Given the description of an element on the screen output the (x, y) to click on. 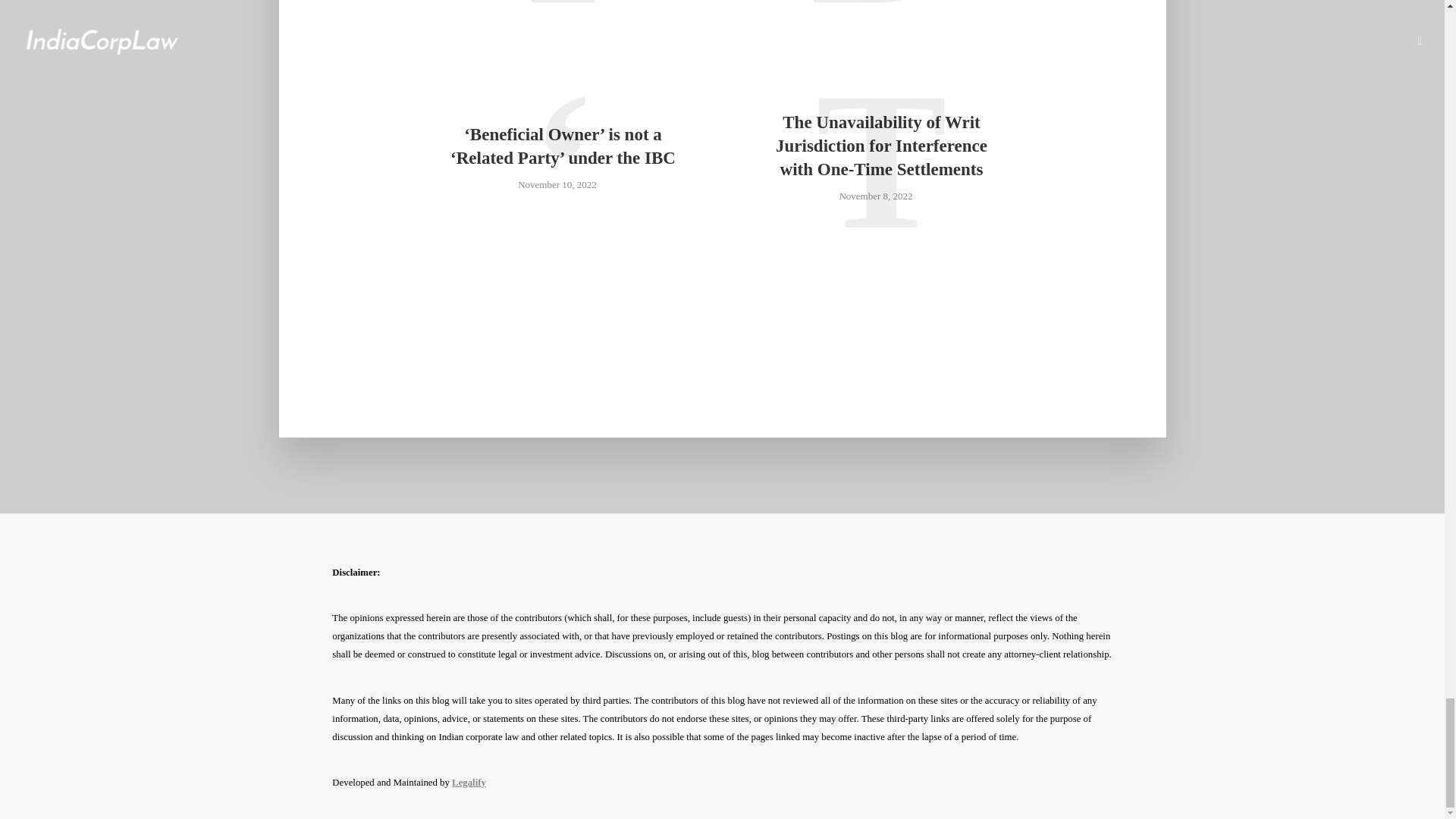
Legalify (468, 782)
